Given the description of an element on the screen output the (x, y) to click on. 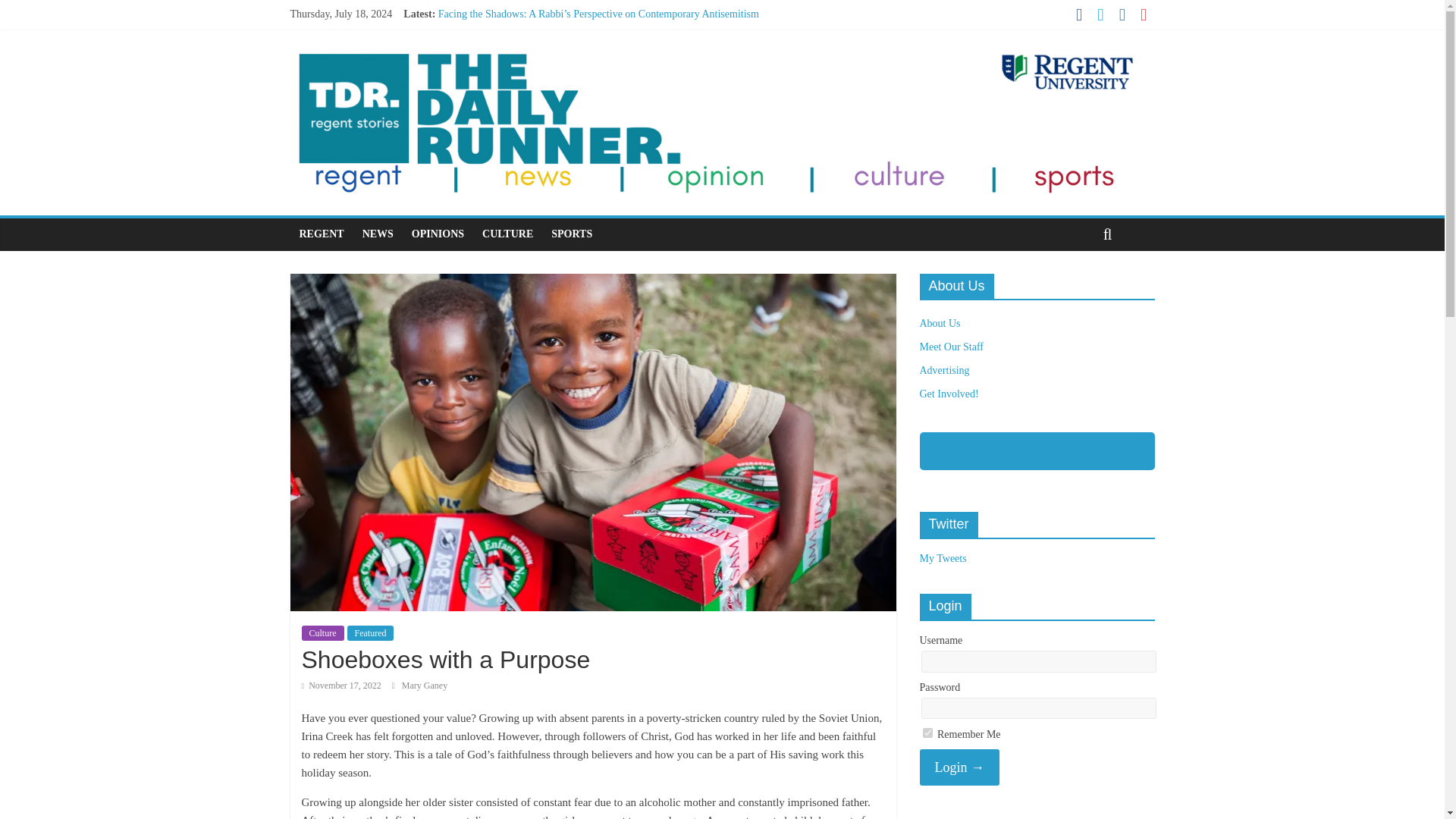
Understanding Antisemitism: Interview with Brendan Murphy (570, 81)
Meet Our Staff (951, 346)
Understanding Antisemitism: Interview with Brendan Murphy (570, 81)
Advertising (943, 369)
SPORTS (571, 234)
Get Involved! (948, 393)
Mary Ganey (423, 685)
REGENT (320, 234)
November 17, 2022 (341, 685)
Culture (322, 632)
Featured (370, 632)
NEWS (378, 234)
forever (926, 732)
Mary Ganey (423, 685)
